Given the description of an element on the screen output the (x, y) to click on. 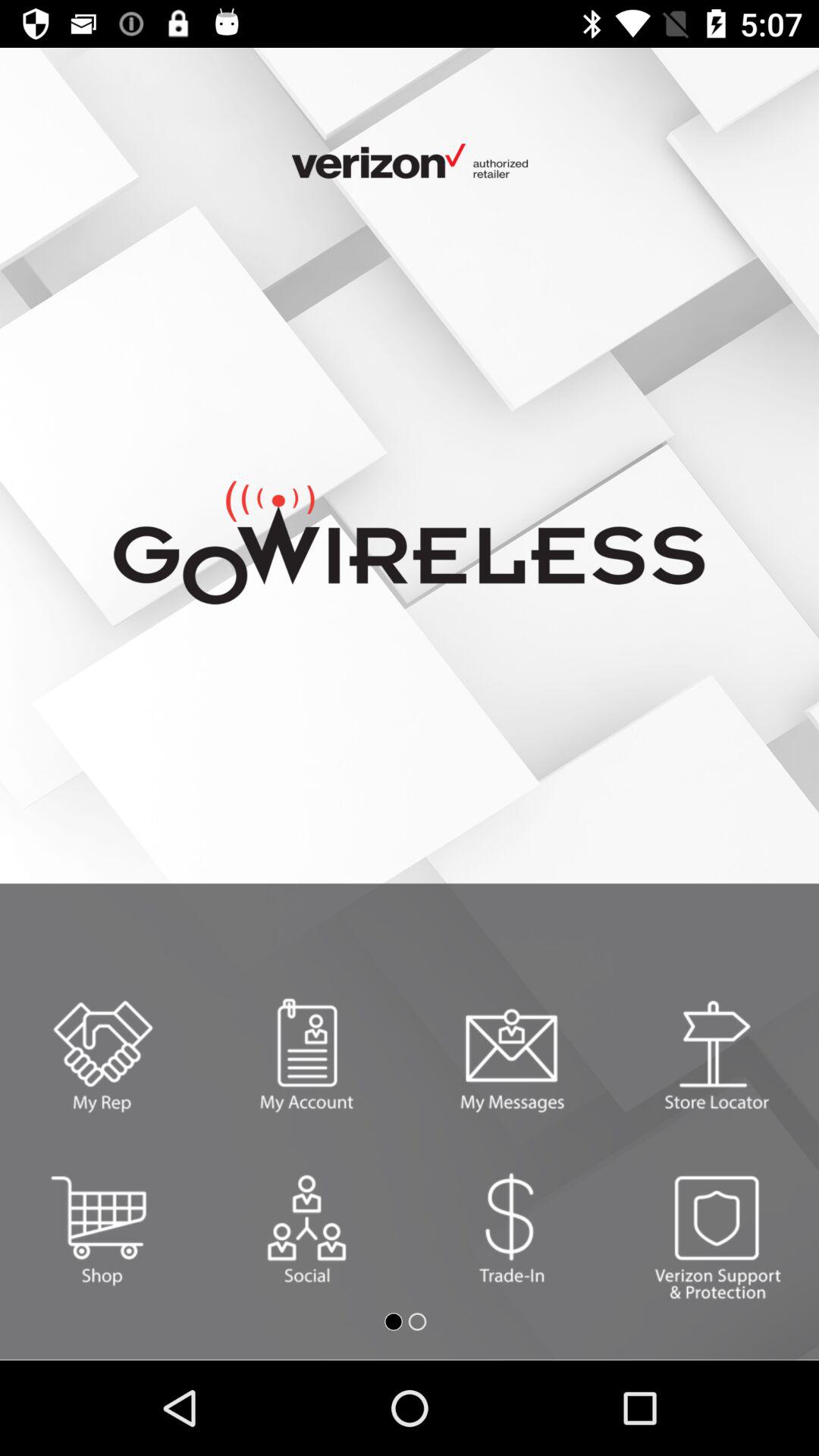
select/search for a store (716, 1055)
